Given the description of an element on the screen output the (x, y) to click on. 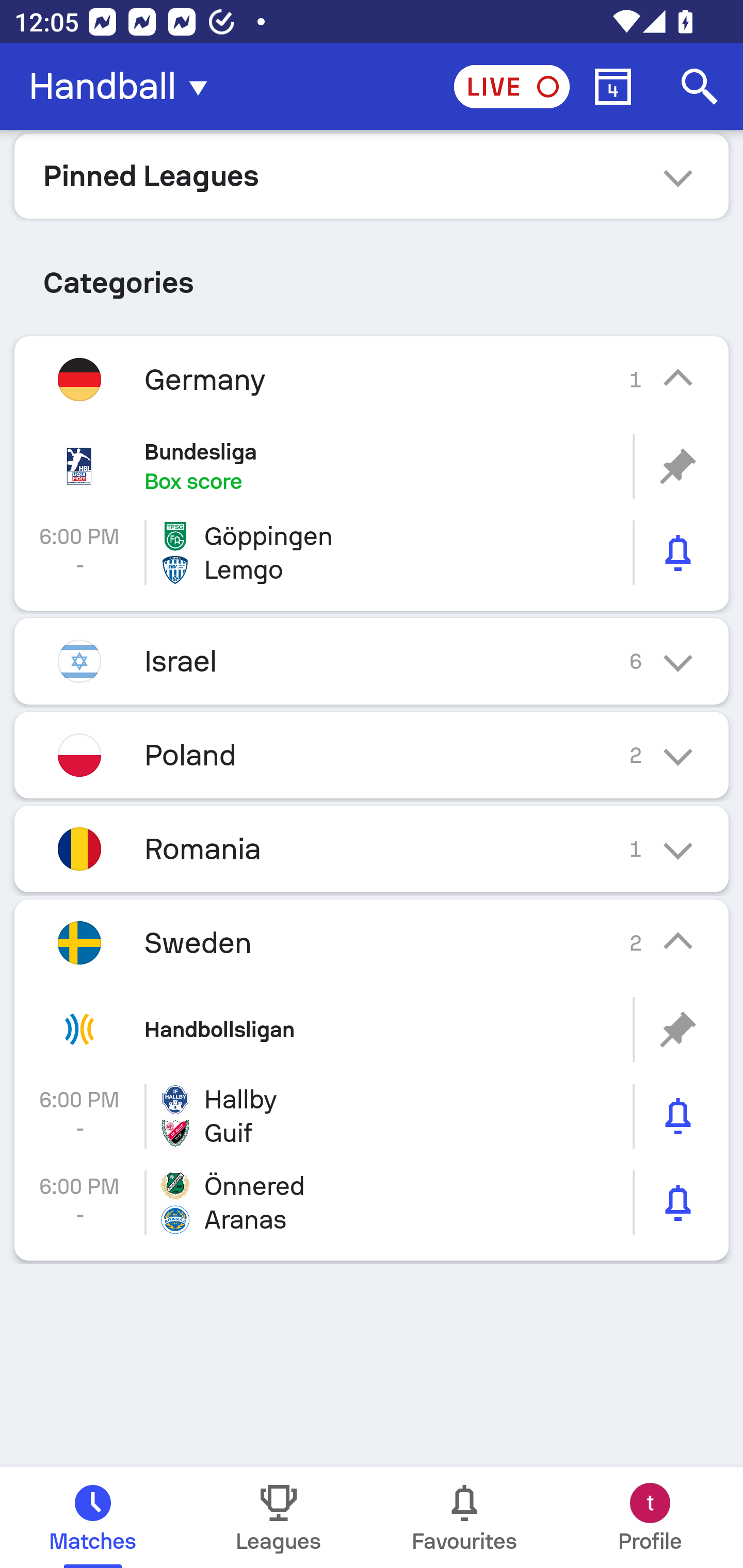
Handball (124, 86)
Calendar (612, 86)
Search (699, 86)
Pinned Leagues (371, 175)
Categories (371, 275)
Germany 1 (371, 379)
Bundesliga Box score (371, 466)
6:00 PM - Göppingen Lemgo (371, 552)
Israel 6 (371, 660)
Poland 2 (371, 754)
Romania 1 (371, 848)
Sweden 2 (371, 943)
Handbollsligan (371, 1029)
6:00 PM - Hallby Guif (371, 1115)
6:00 PM - Önnered Aranas (371, 1202)
Leagues (278, 1517)
Favourites (464, 1517)
Profile (650, 1517)
